Given the description of an element on the screen output the (x, y) to click on. 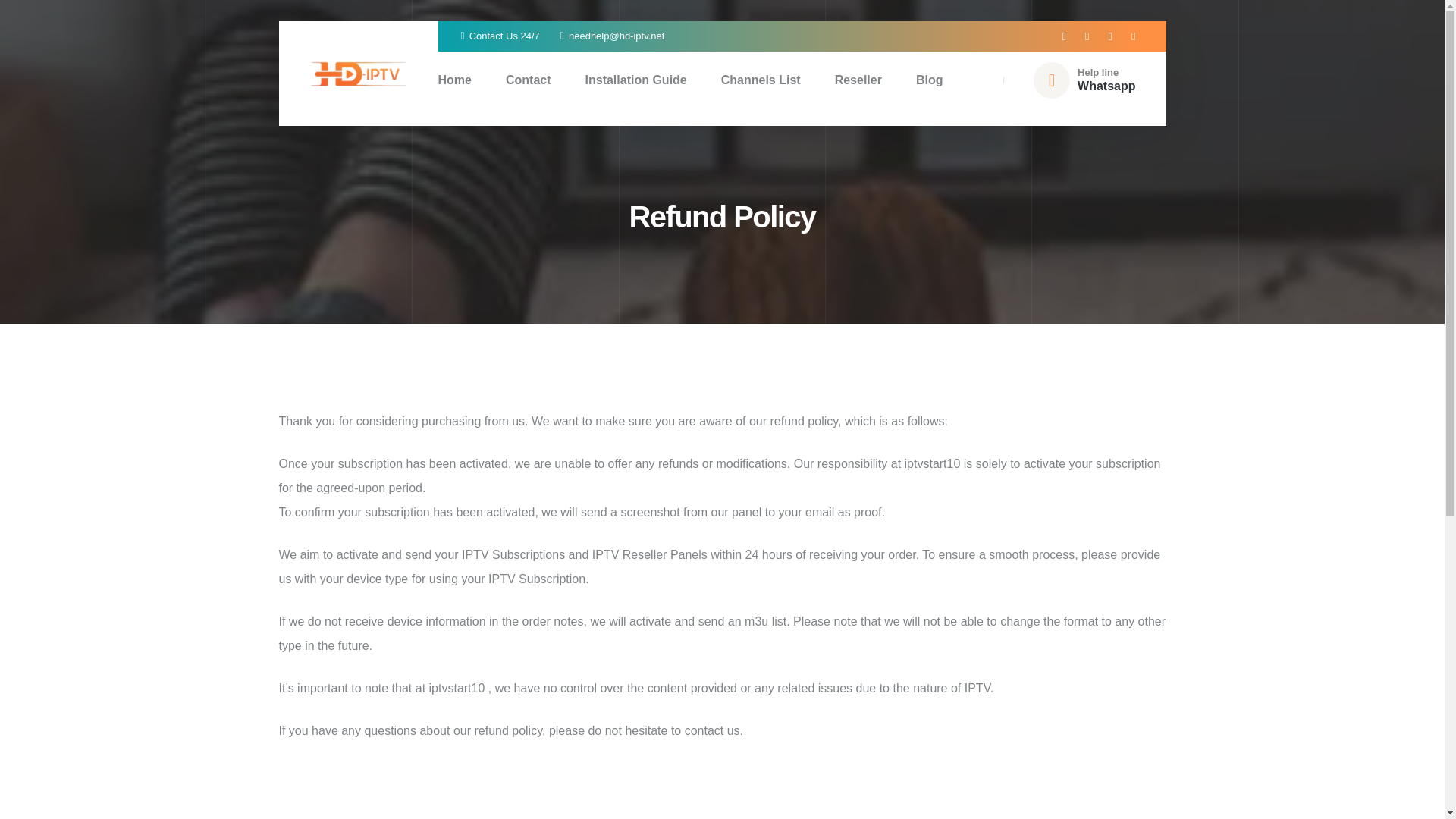
Reseller (858, 79)
Blog (929, 79)
Installation Guide (636, 79)
Home (690, 79)
Channels List (454, 79)
Whatsapp (760, 79)
Contact (1106, 84)
